Given the description of an element on the screen output the (x, y) to click on. 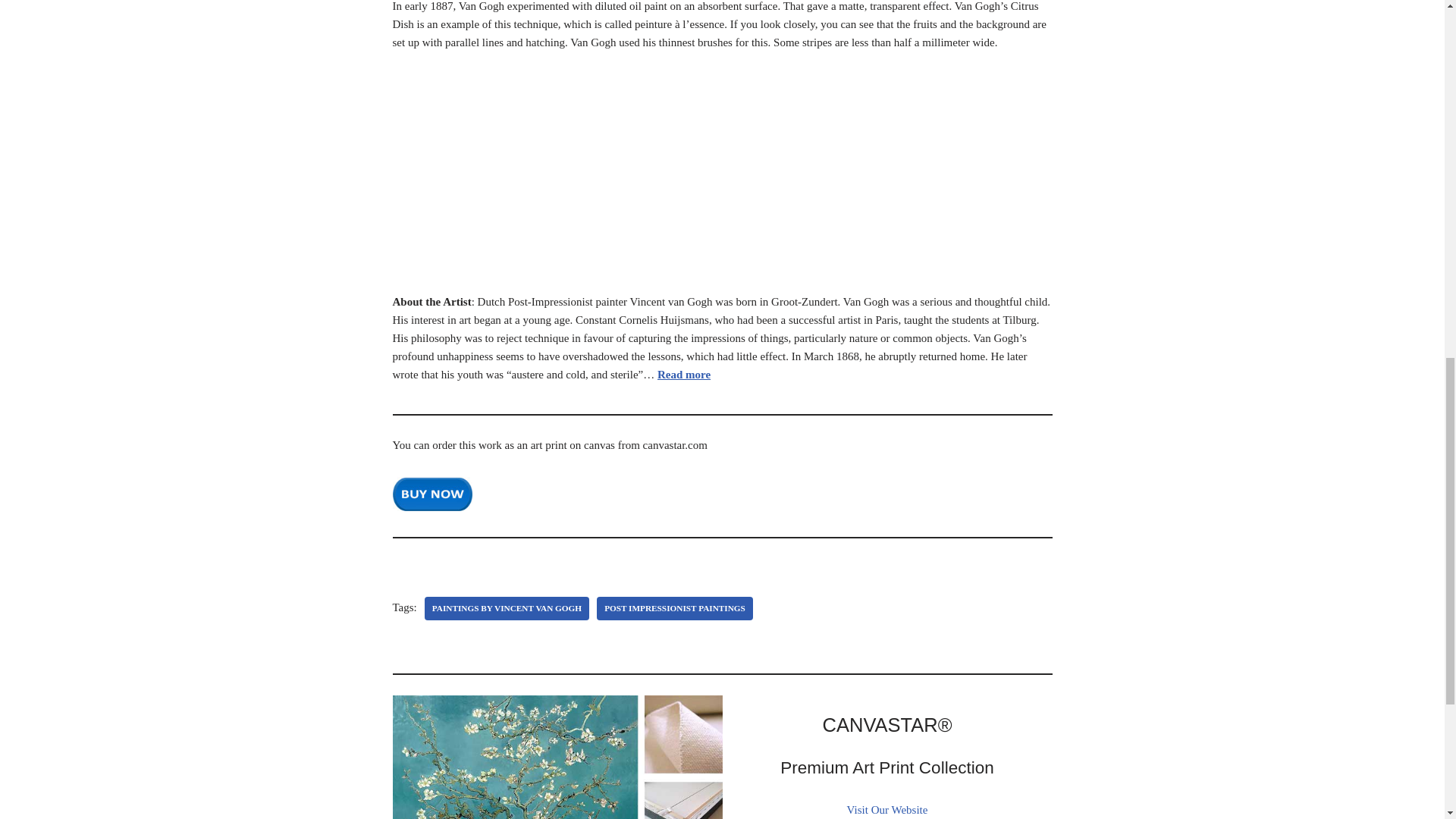
Post Impressionist Paintings (674, 608)
Paintings by Vincent van Gogh (507, 608)
Read more (684, 374)
